Given the description of an element on the screen output the (x, y) to click on. 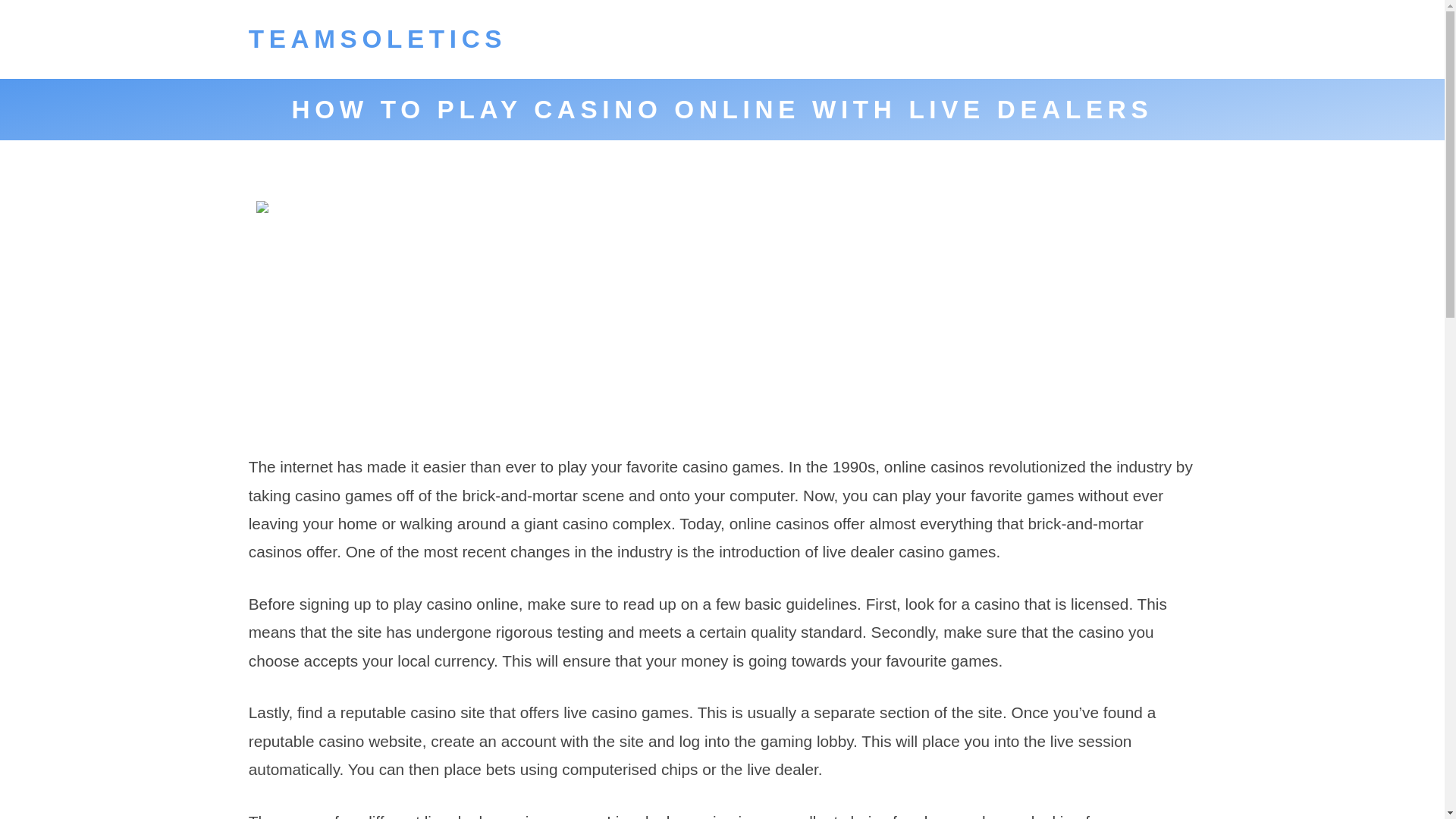
TEAMSOLETICS (377, 39)
